Given the description of an element on the screen output the (x, y) to click on. 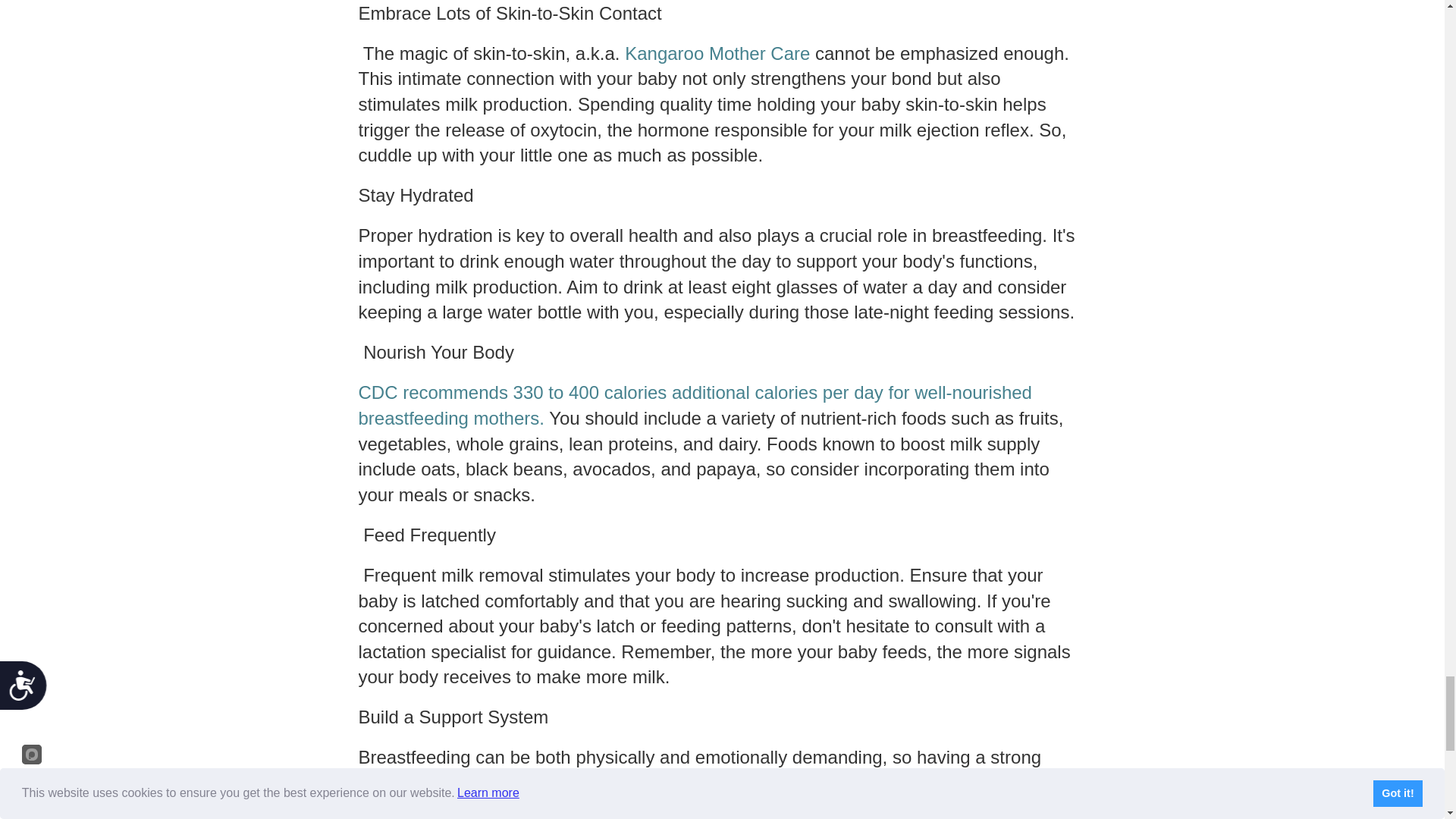
Kangaroo Mother Care (716, 53)
